Given the description of an element on the screen output the (x, y) to click on. 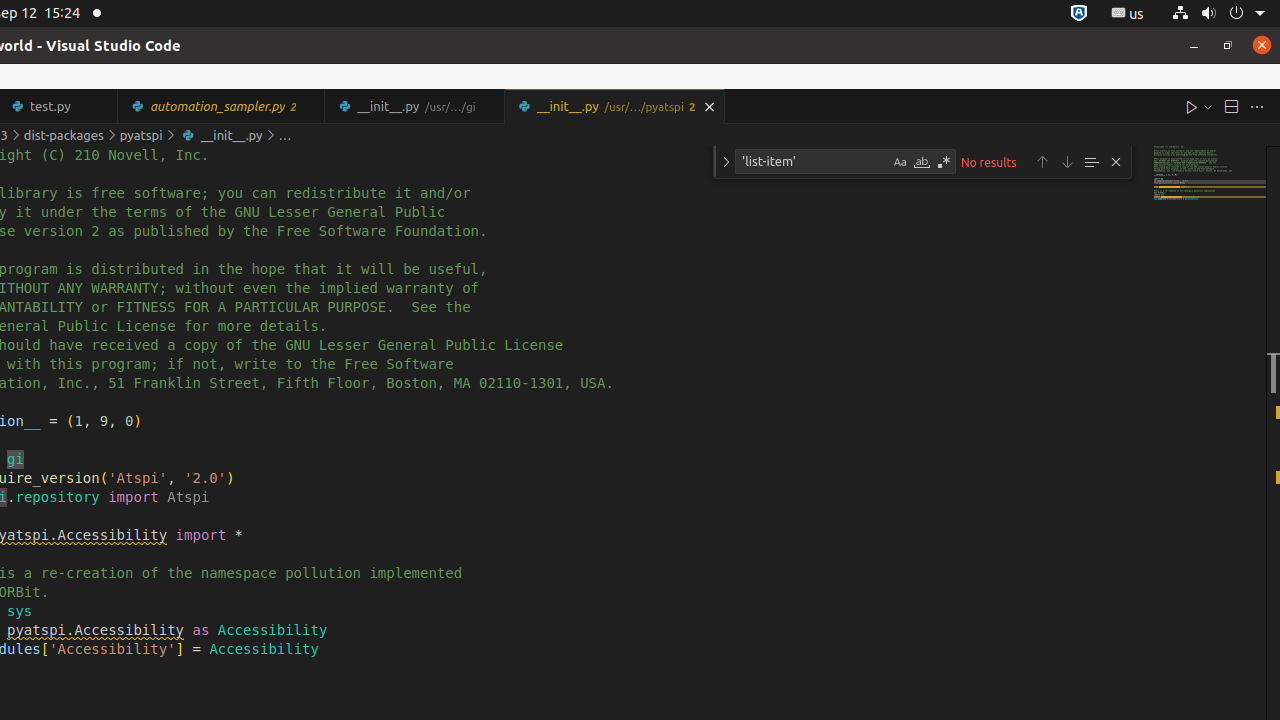
Close (Escape) Element type: push-button (1116, 162)
Find in Selection (Alt+L) Element type: check-box (1091, 161)
automation_sampler.py, preview Element type: page-tab (222, 106)
__init__.py Element type: page-tab (614, 106)
Split Editor Down Element type: push-button (1231, 106)
